Given the description of an element on the screen output the (x, y) to click on. 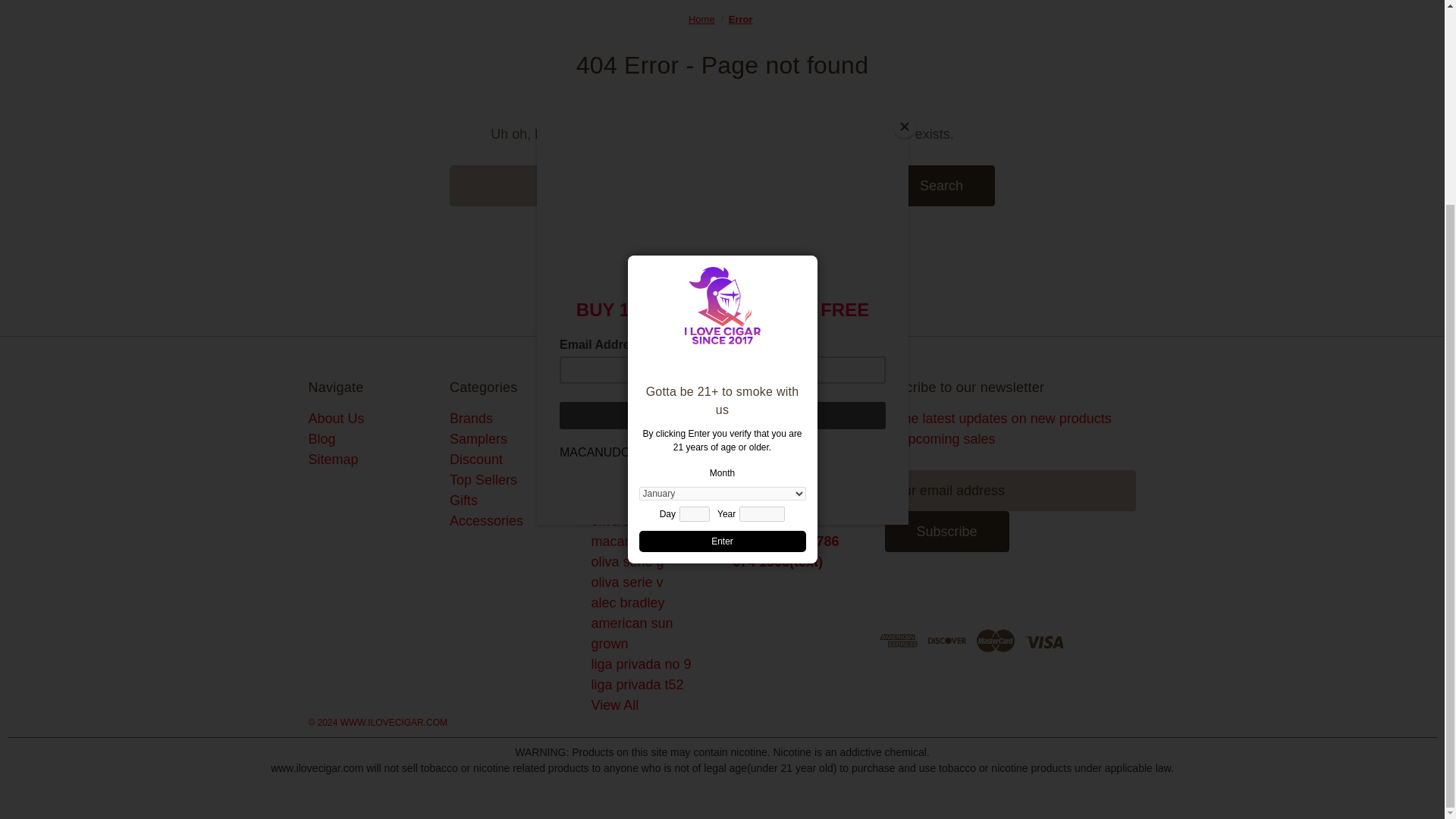
Discover (947, 640)
Subscribe (946, 531)
American Express (898, 640)
Mastercard (995, 640)
Search (941, 185)
Visa (1043, 640)
